Given the description of an element on the screen output the (x, y) to click on. 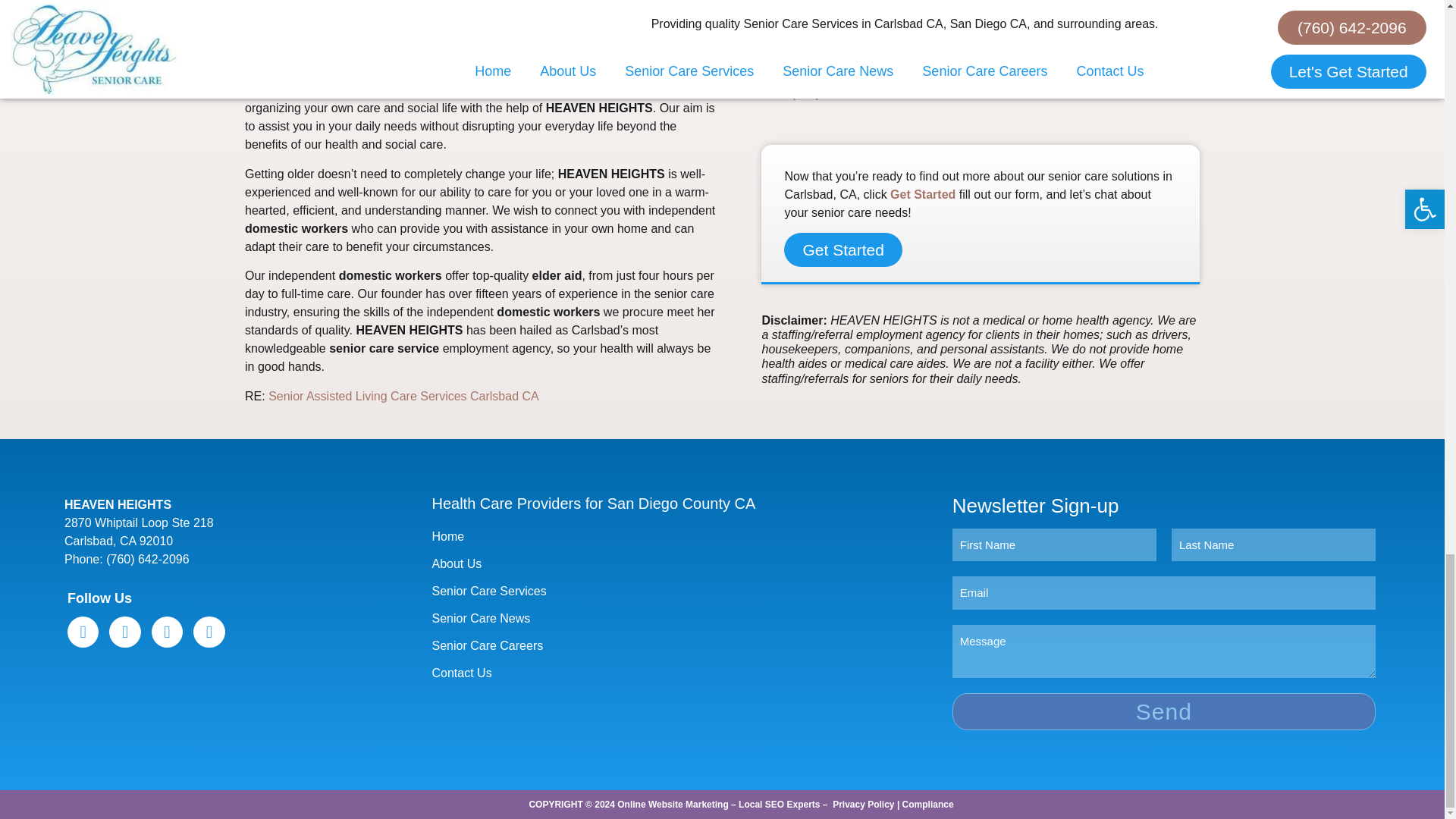
Privacy Policy (862, 804)
Online Website Marketing - Local SEO Experts (718, 804)
Compliance (927, 804)
